Given the description of an element on the screen output the (x, y) to click on. 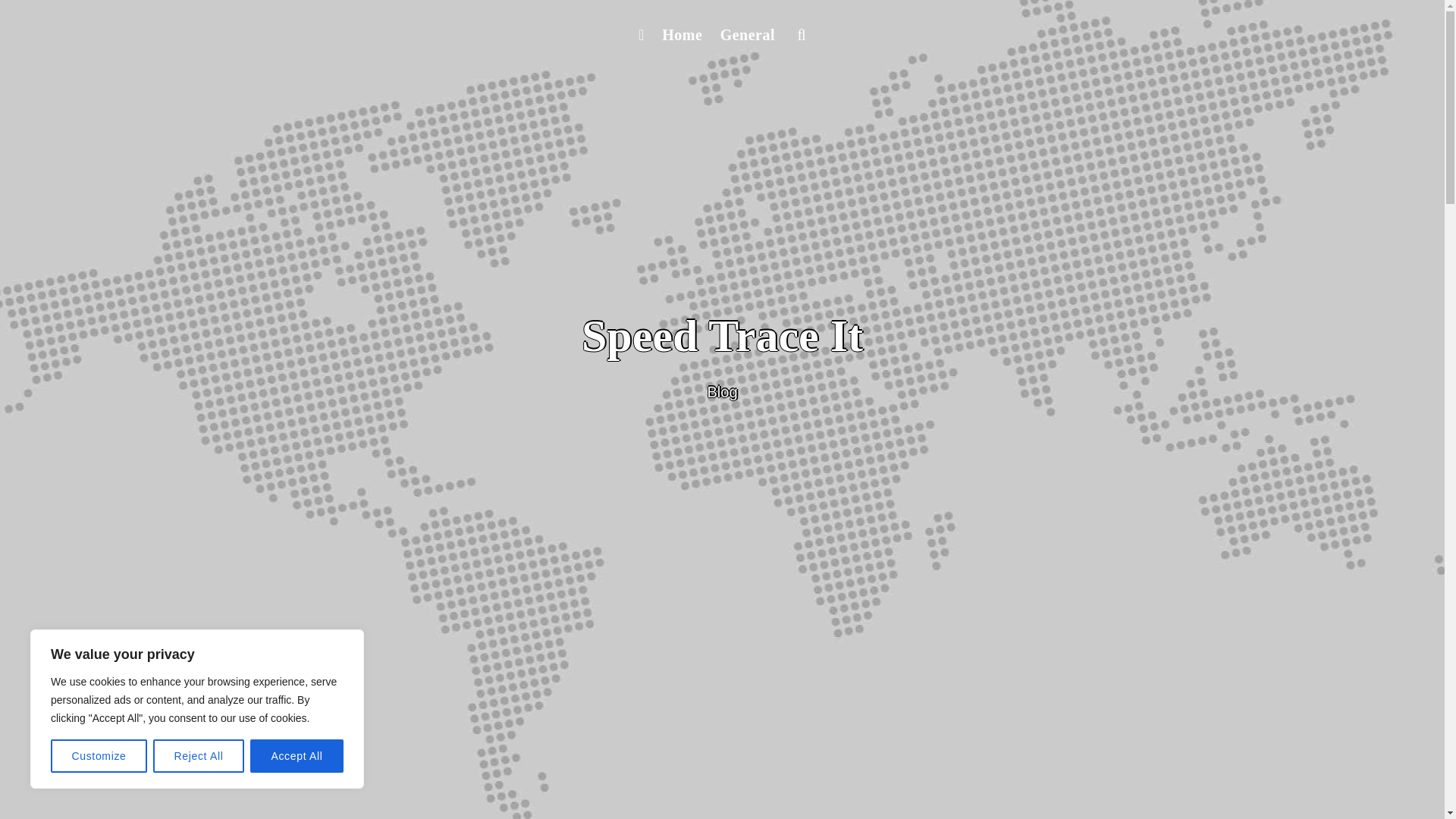
Home (681, 35)
General (747, 35)
Speed Trace It (721, 336)
Accept All (296, 756)
Customize (98, 756)
Reject All (198, 756)
